Given the description of an element on the screen output the (x, y) to click on. 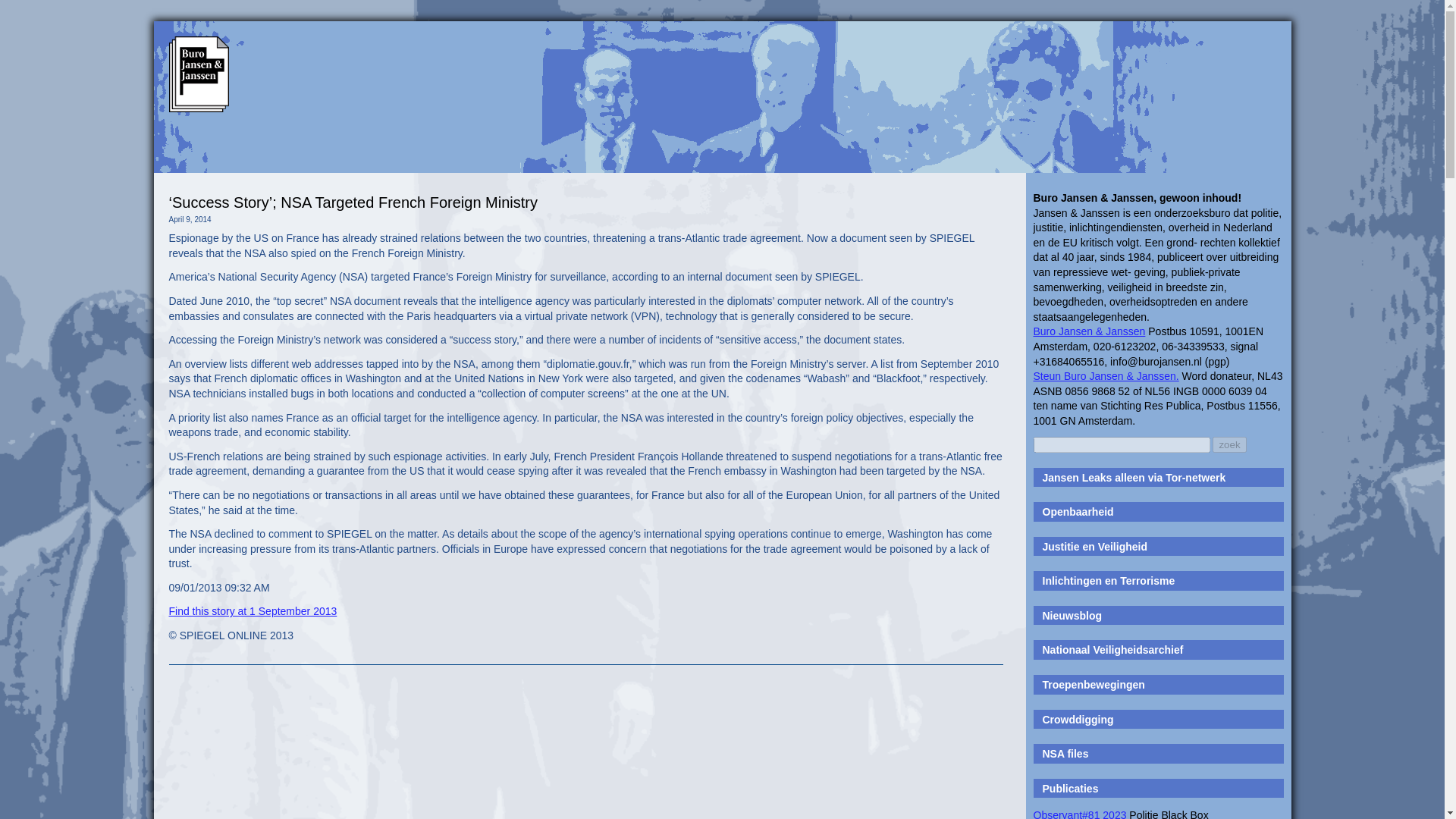
Inlichtingen en Terrorisme (1108, 580)
Jansen Leaks alleen via Tor-netwerk (1133, 477)
Nationaal Veiligheidsarchief (1112, 649)
Nieuwsblog (1072, 615)
Justitie en Veiligheid (1094, 546)
Troepenbewegingen (1093, 684)
NSA files (1064, 753)
zoek (1229, 444)
Crowddigging (1077, 719)
zoek (1229, 444)
Openbaarheid (1077, 511)
